Given the description of an element on the screen output the (x, y) to click on. 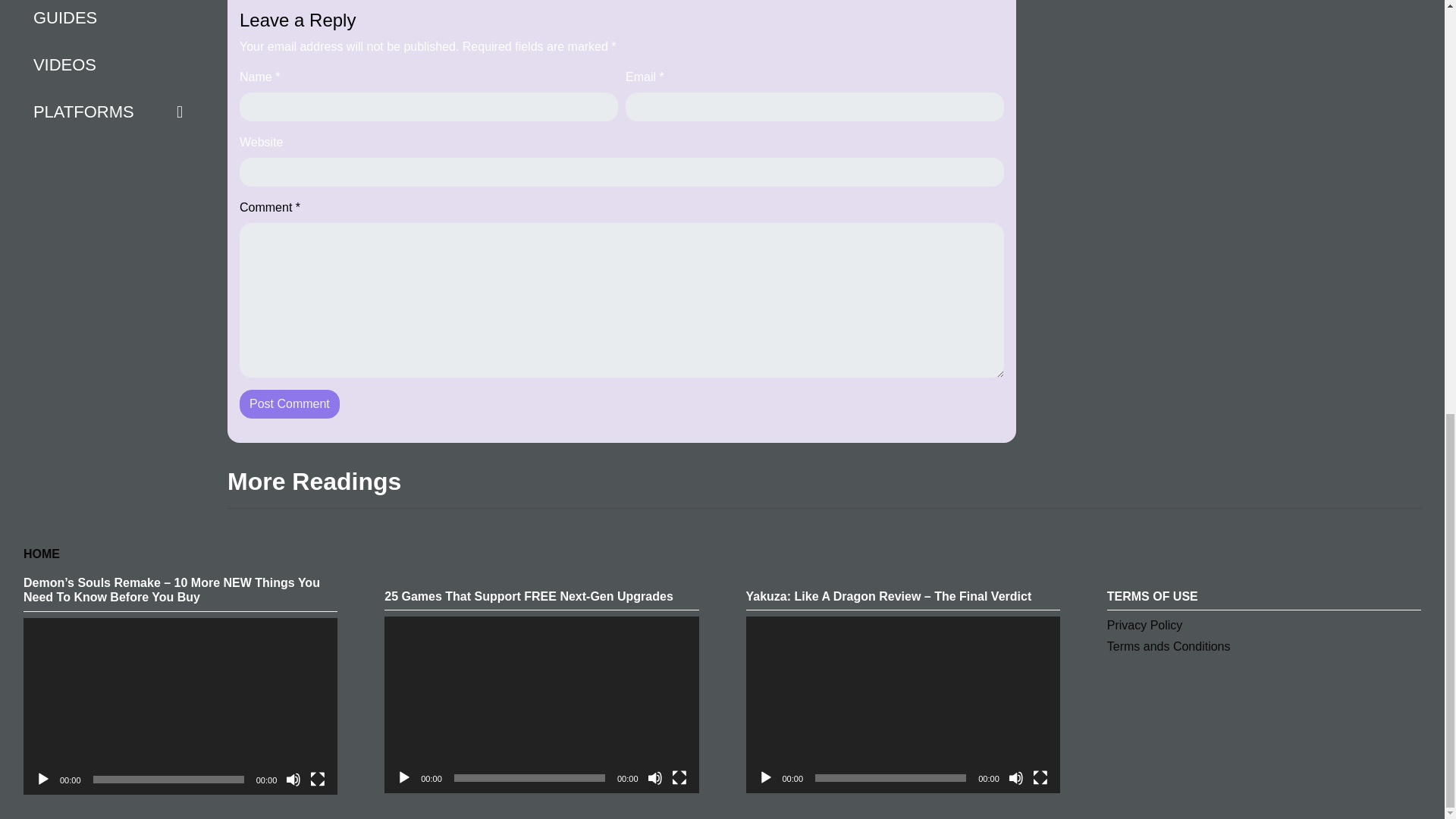
Play (404, 777)
Mute (654, 777)
Fullscreen (679, 777)
Fullscreen (1040, 777)
Fullscreen (317, 779)
Play (42, 779)
Post Comment (289, 403)
Mute (293, 779)
Mute (1016, 777)
Play (765, 777)
